Given the description of an element on the screen output the (x, y) to click on. 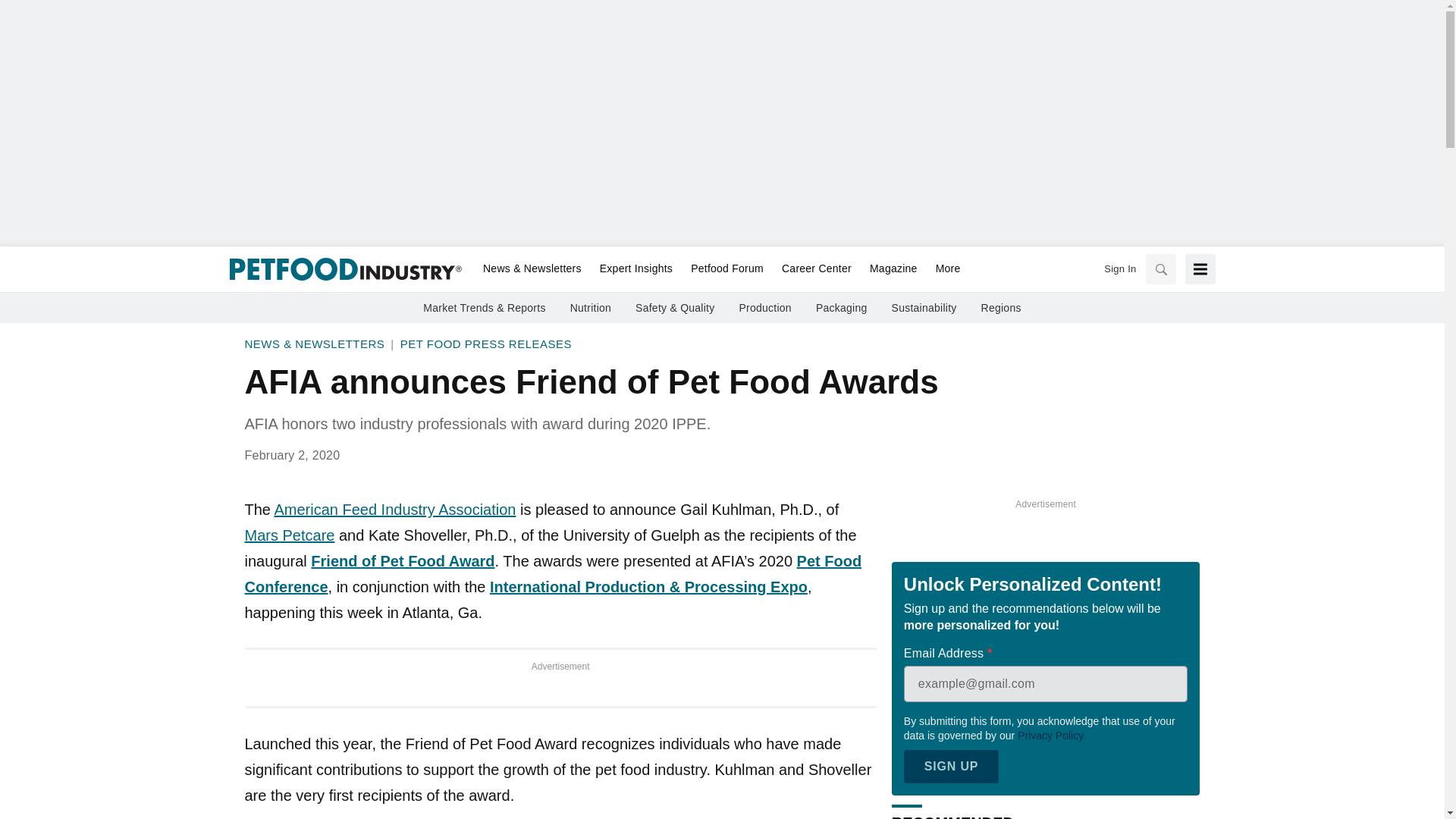
Career Center (816, 269)
More (943, 269)
Magazine (893, 269)
Sign In (1119, 268)
Nutrition (590, 307)
Production (764, 307)
Pet Food Press Releases (486, 343)
Packaging (841, 307)
Expert Insights (636, 269)
Sustainability (923, 307)
